Given the description of an element on the screen output the (x, y) to click on. 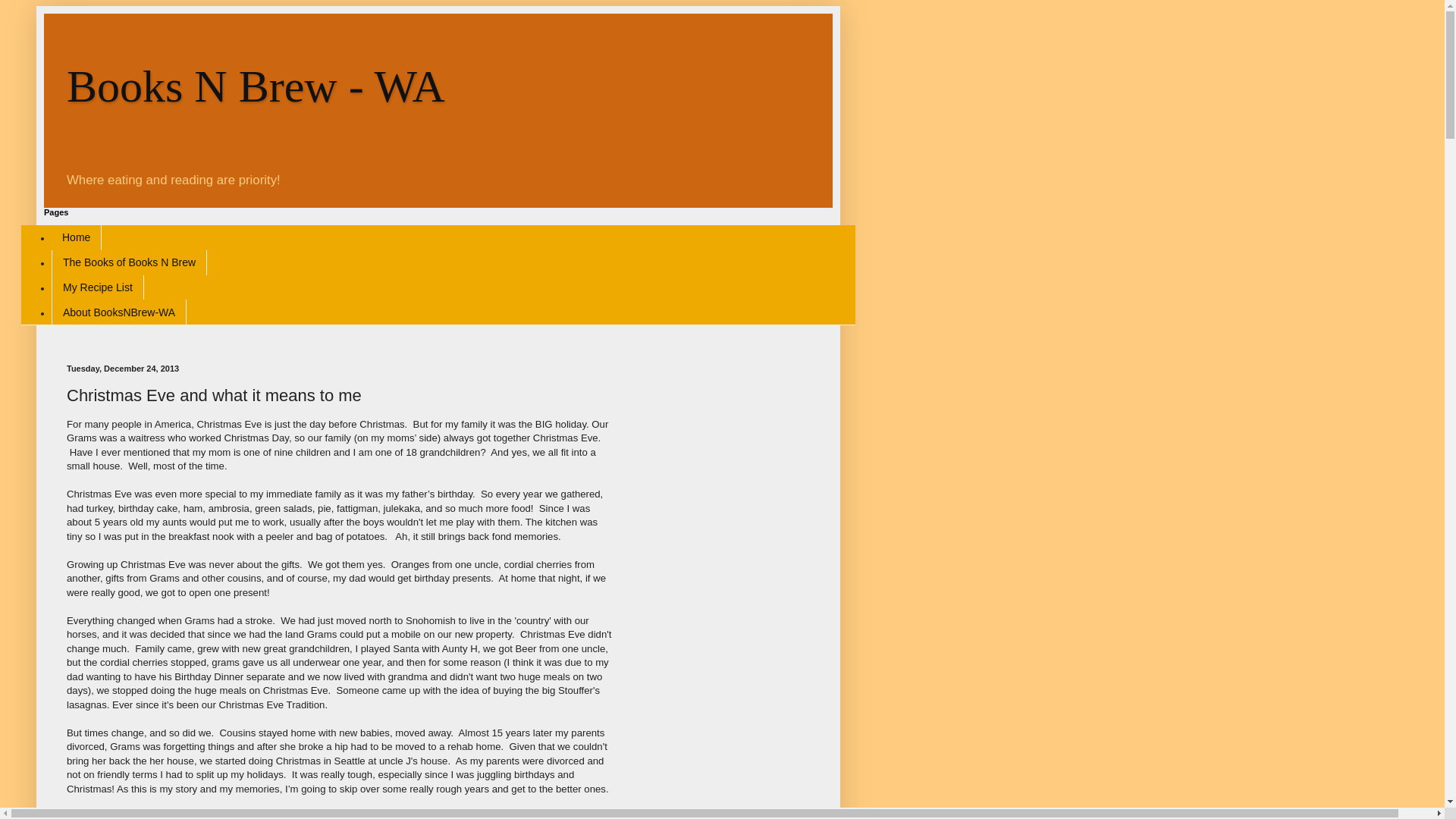
Home (75, 237)
My Recipe List (97, 287)
The Books of Books N Brew (128, 262)
Books N Brew - WA (255, 86)
About BooksNBrew-WA (118, 311)
